Given the description of an element on the screen output the (x, y) to click on. 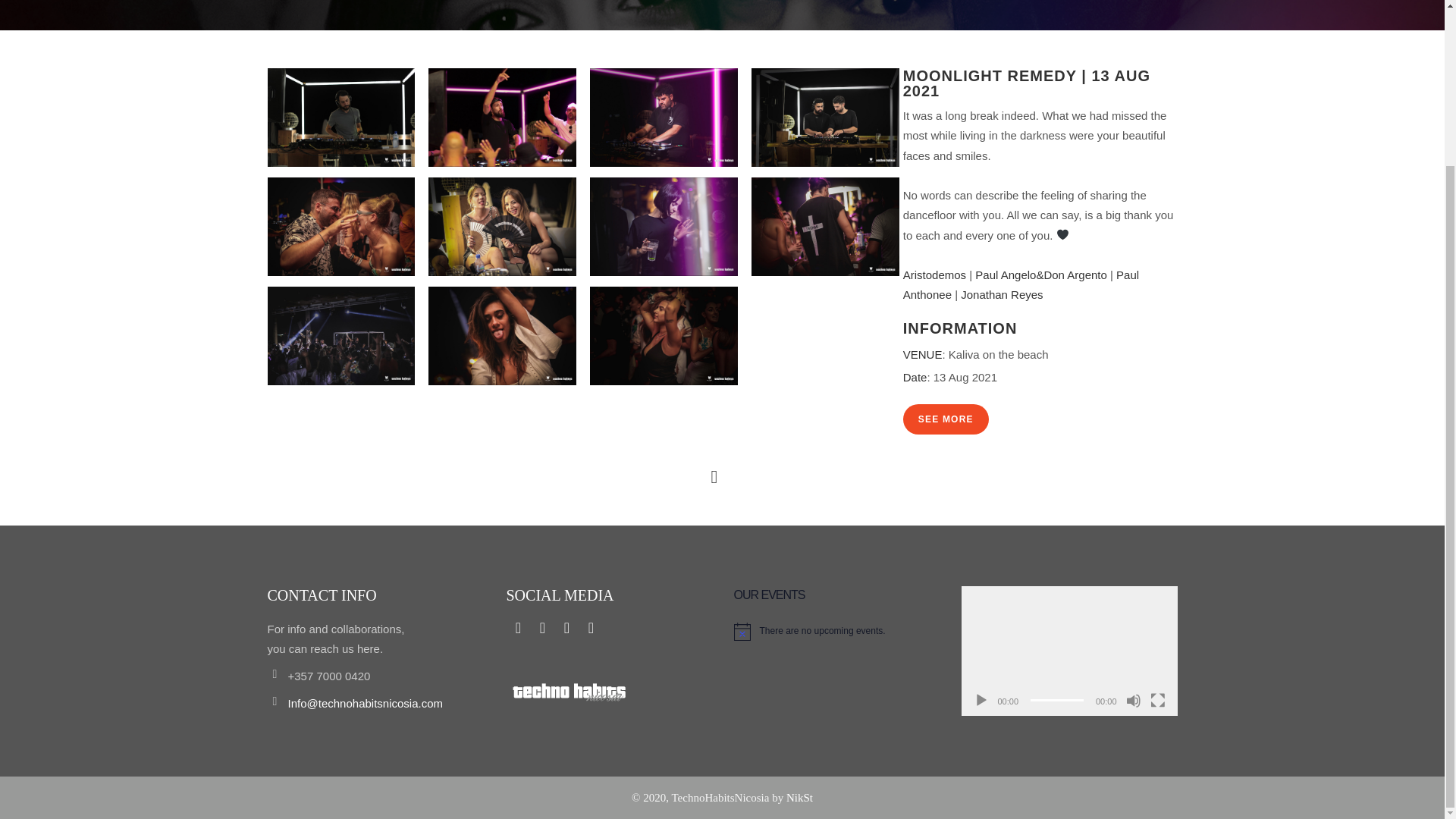
mr3 (663, 115)
NikSt (799, 797)
mr7 (663, 225)
mr6 (502, 225)
mr11 (663, 334)
mr4 (825, 115)
mr5 (340, 225)
SEE MORE (945, 418)
Paul Anthonee (1020, 284)
Aristodemos (934, 274)
mr1 (340, 115)
mr8 (825, 225)
mr9 (340, 334)
mr2 (502, 115)
Jonathan Reyes (1001, 294)
